Given the description of an element on the screen output the (x, y) to click on. 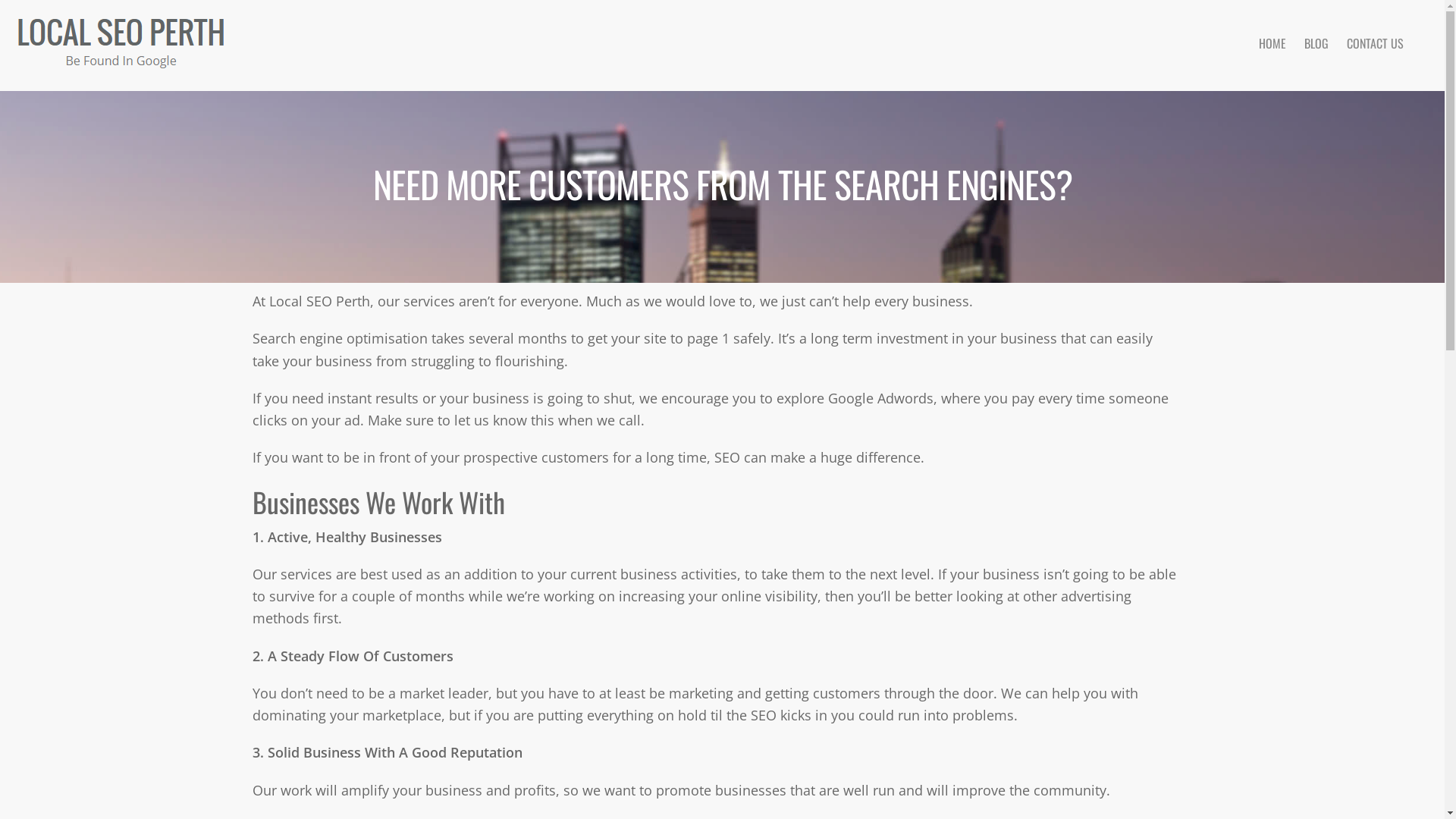
HOME Element type: text (1272, 43)
BLOG Element type: text (1316, 43)
CONTACT US Element type: text (1375, 43)
